Given the description of an element on the screen output the (x, y) to click on. 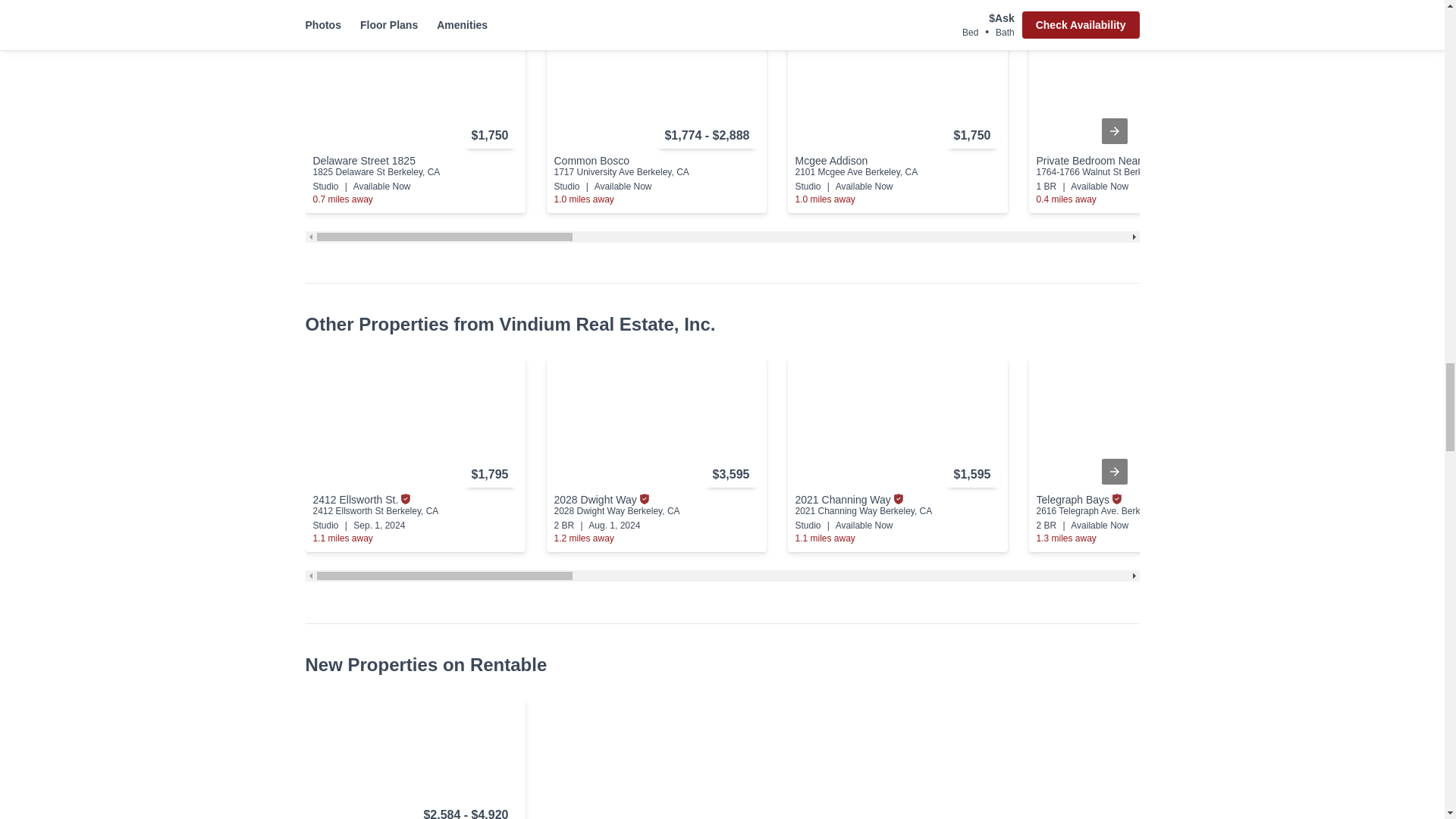
Next item in carousel (1113, 130)
Next item in carousel (1113, 471)
